Given the description of an element on the screen output the (x, y) to click on. 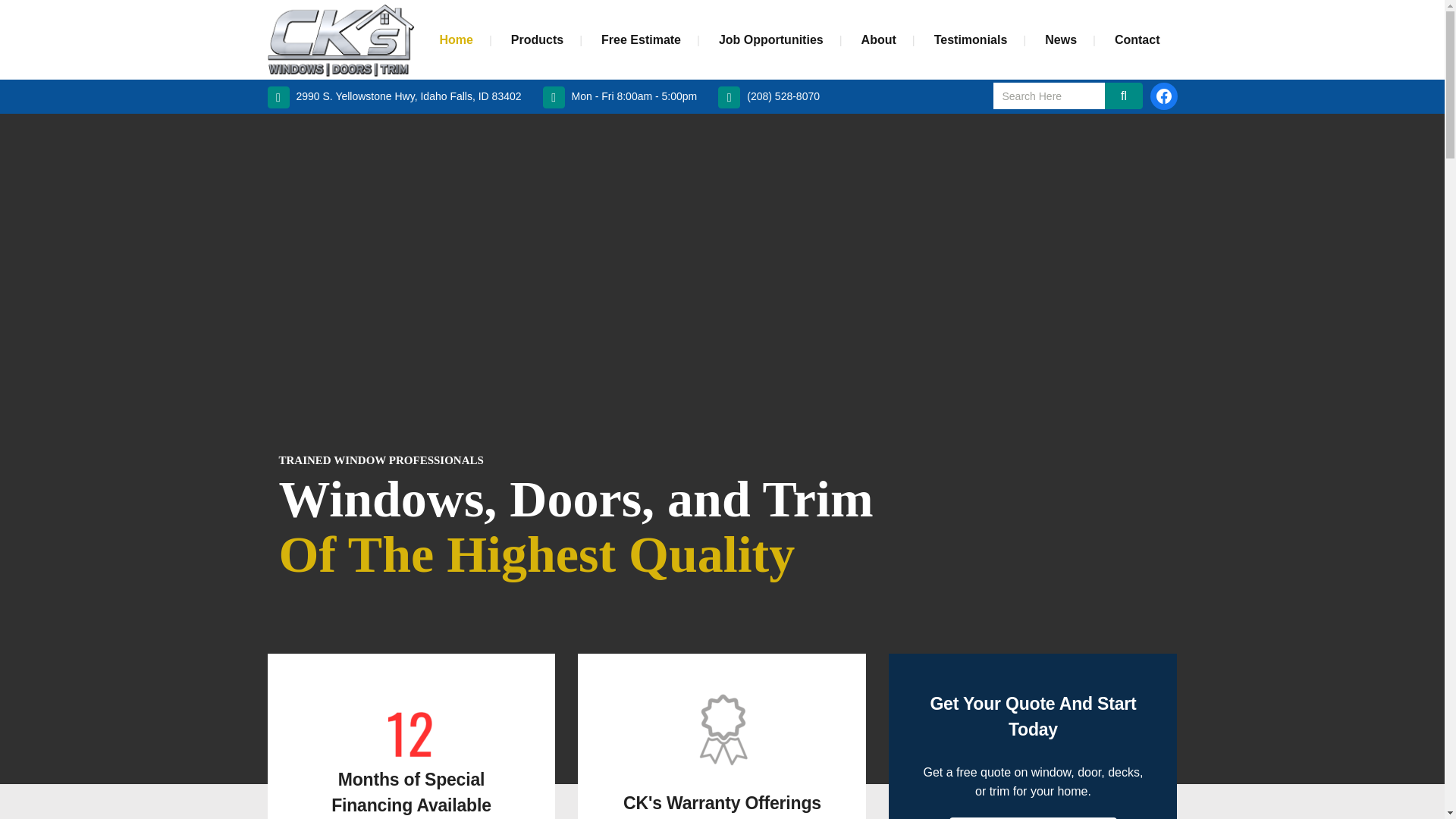
badge (721, 728)
2990 S. Yellowstone Hwy, Idaho Falls, ID 83402 (393, 96)
Facebook (1163, 95)
Job Opportunities (771, 39)
Free Estimate (640, 39)
Products (536, 39)
Testimonials (971, 39)
